Given the description of an element on the screen output the (x, y) to click on. 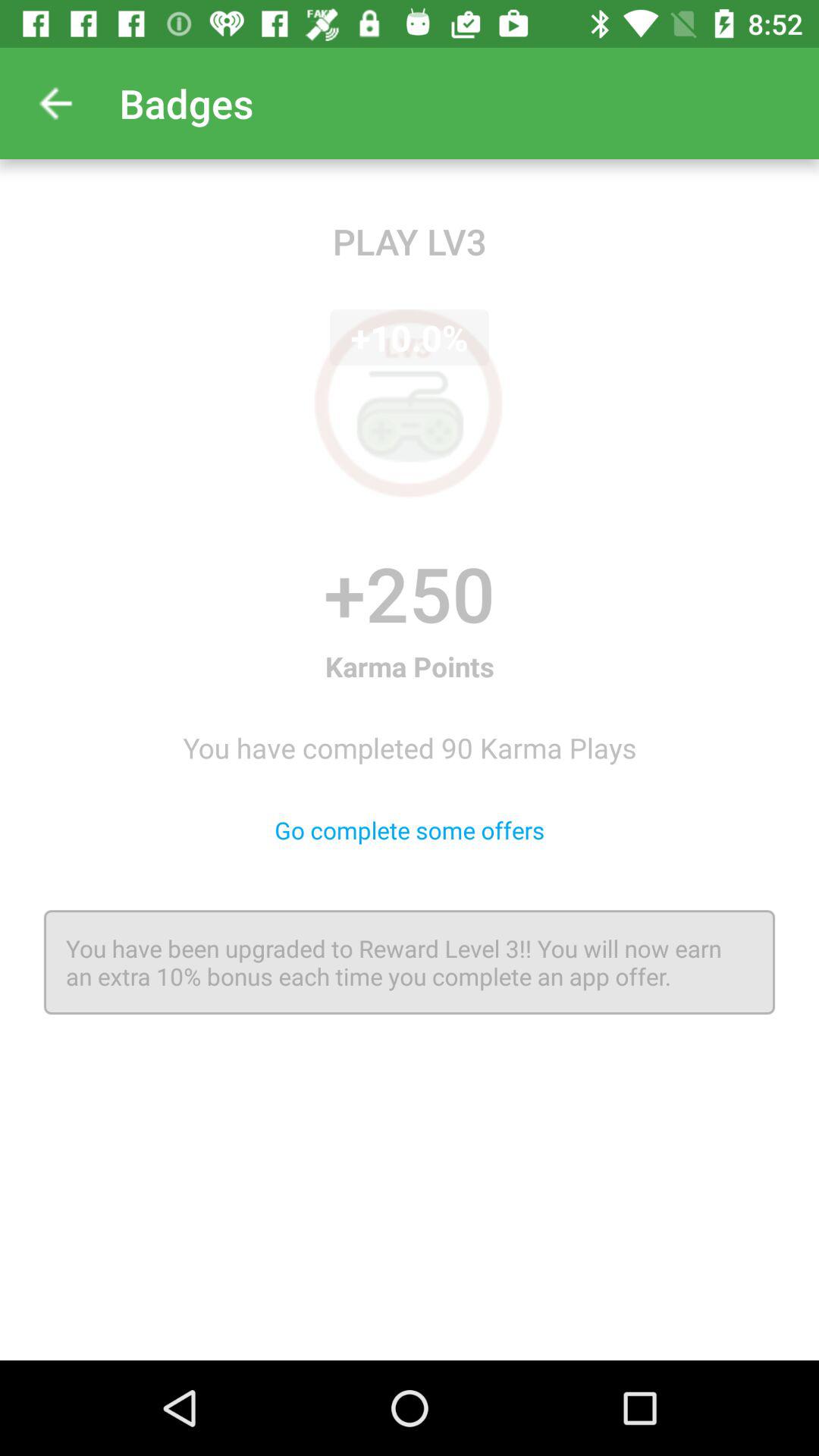
choose the go complete some (409, 830)
